Given the description of an element on the screen output the (x, y) to click on. 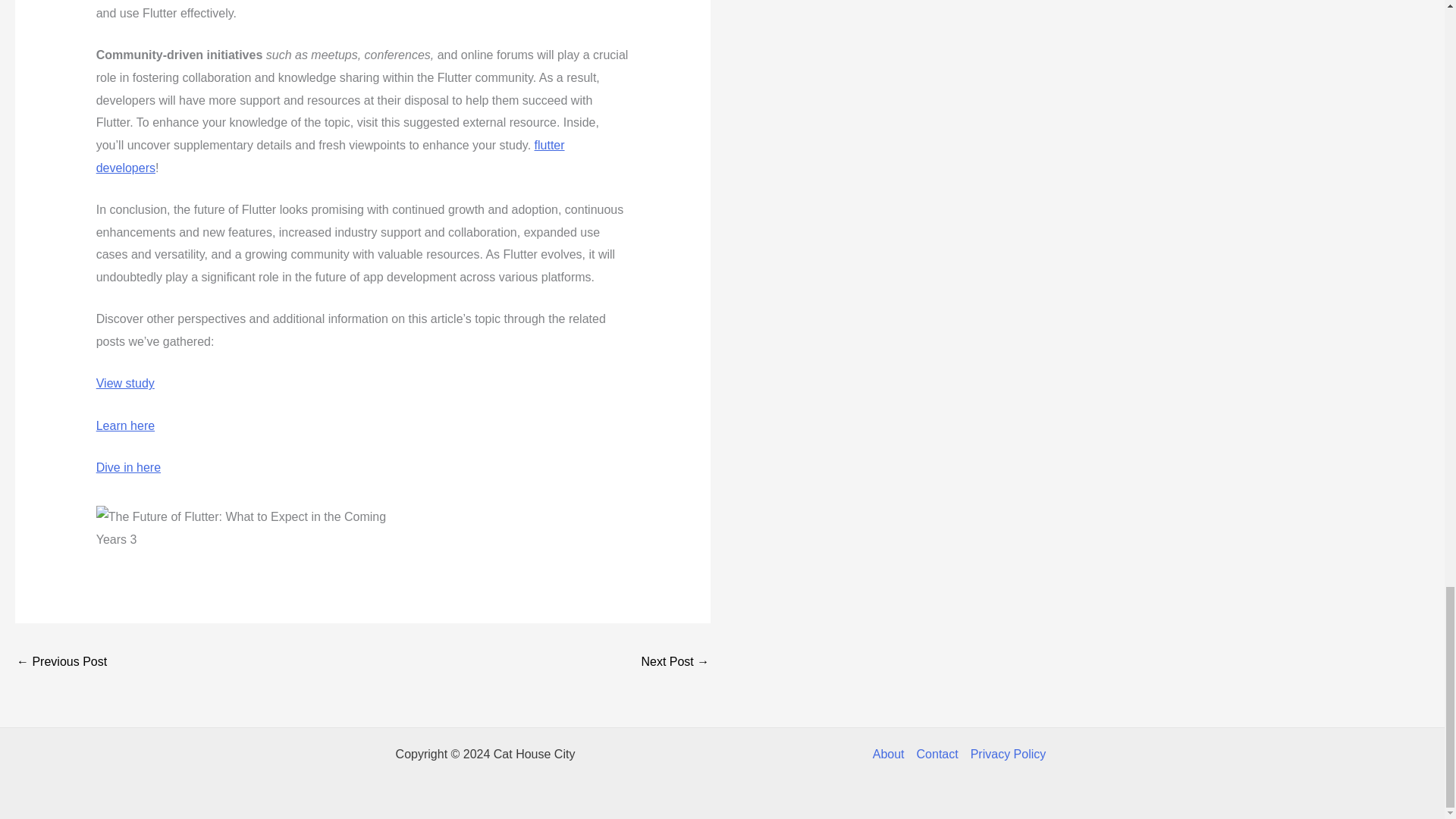
The Growing Role of Technical Tasks in Today's Workplace (61, 663)
flutter developers (330, 156)
Successful Interview Strategies (674, 663)
About (891, 753)
Privacy Policy (1004, 753)
Learn here (125, 425)
Contact (937, 753)
View study (125, 382)
Dive in here (128, 467)
